Given the description of an element on the screen output the (x, y) to click on. 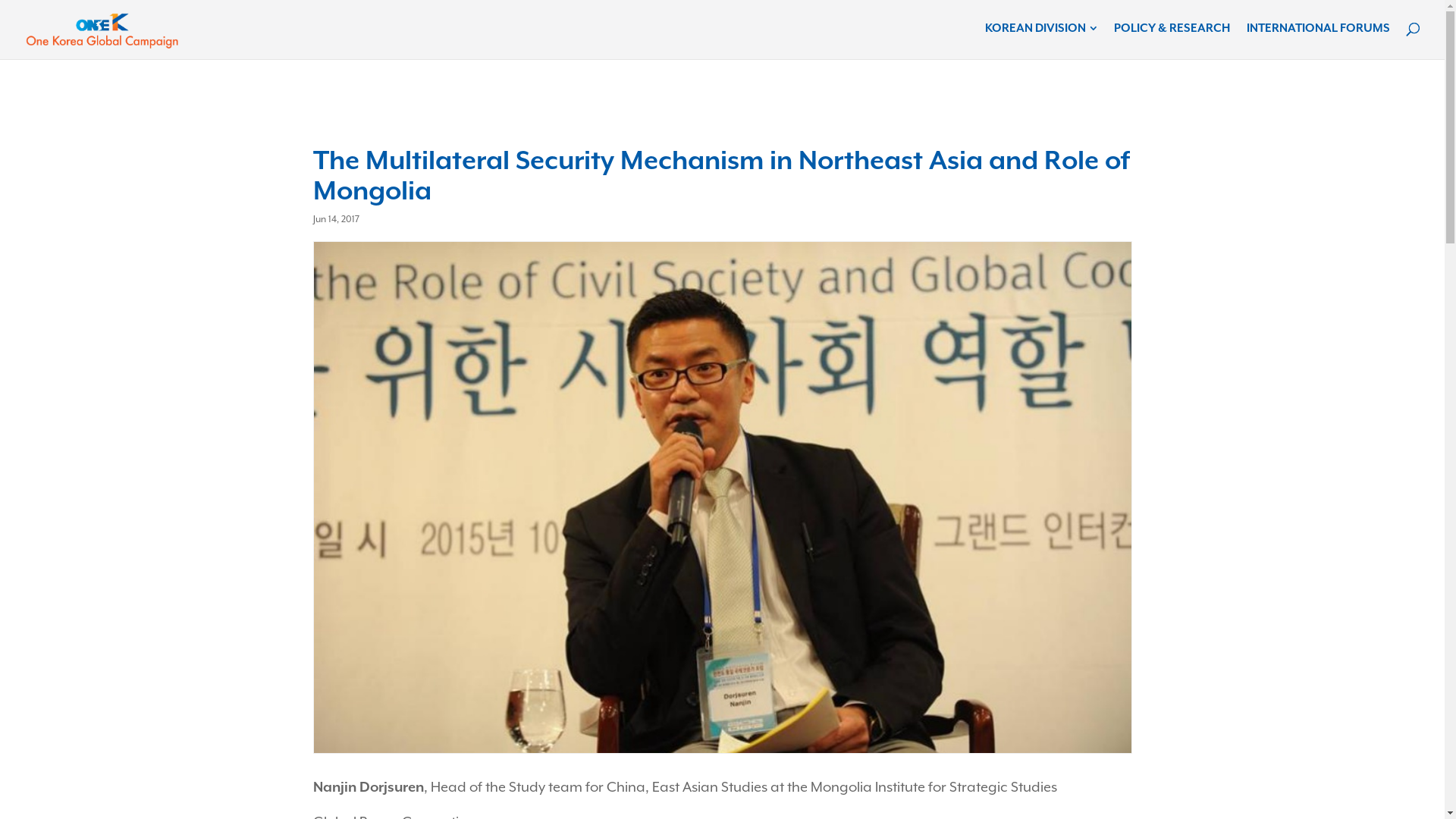
POLICY & RESEARCH Element type: text (1171, 29)
KOREAN DIVISION Element type: text (1041, 29)
INTERNATIONAL FORUMS Element type: text (1318, 29)
